Given the description of an element on the screen output the (x, y) to click on. 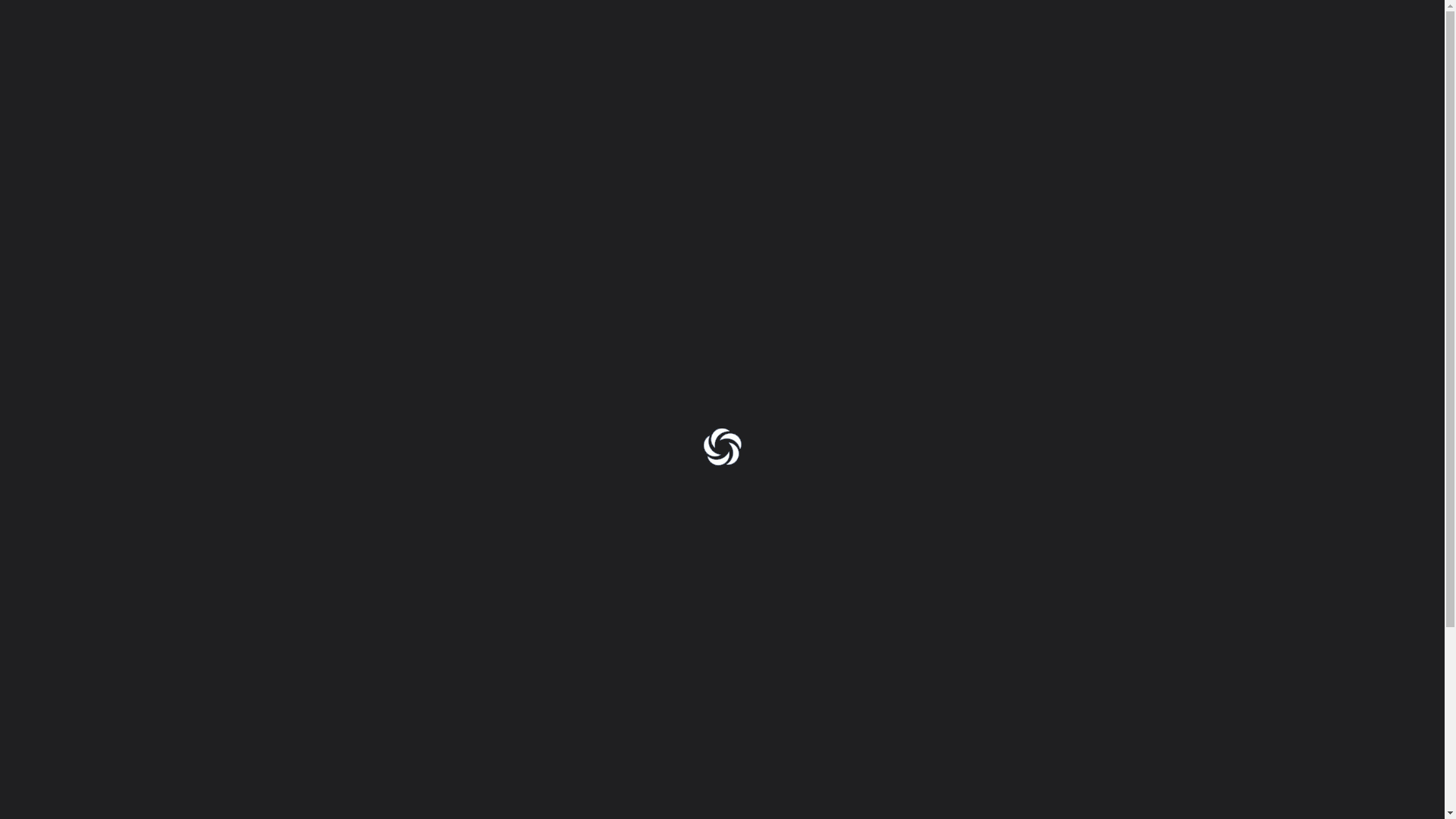
ABOUT US Element type: text (868, 99)
GALLERY Element type: text (952, 99)
PRIVACY POLICY Element type: text (541, 226)
CONTACT US Element type: text (1033, 99)
